Given the description of an element on the screen output the (x, y) to click on. 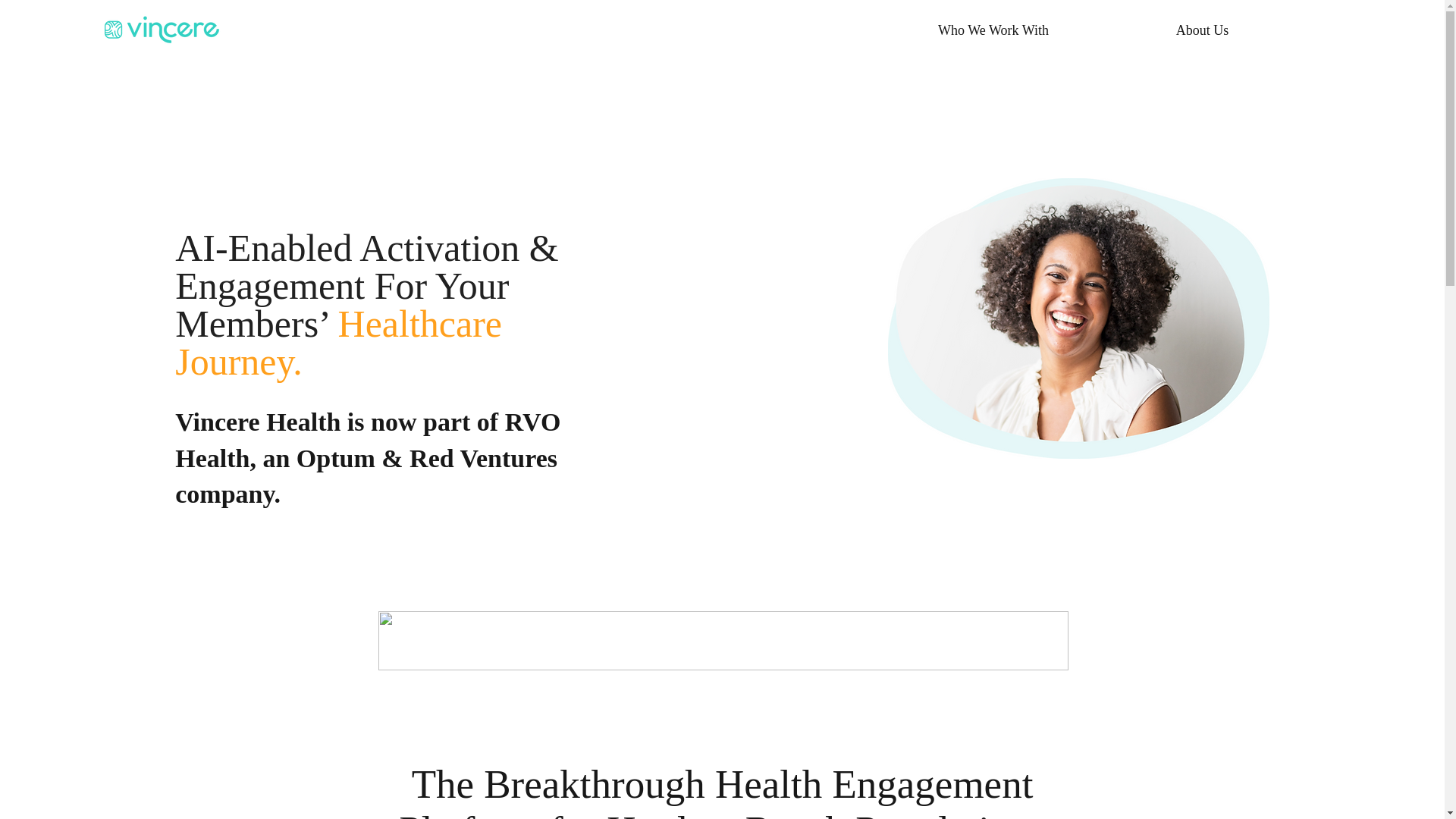
Header Image.png (1078, 318)
Published features 1.png (722, 640)
About Us (1201, 29)
